Given the description of an element on the screen output the (x, y) to click on. 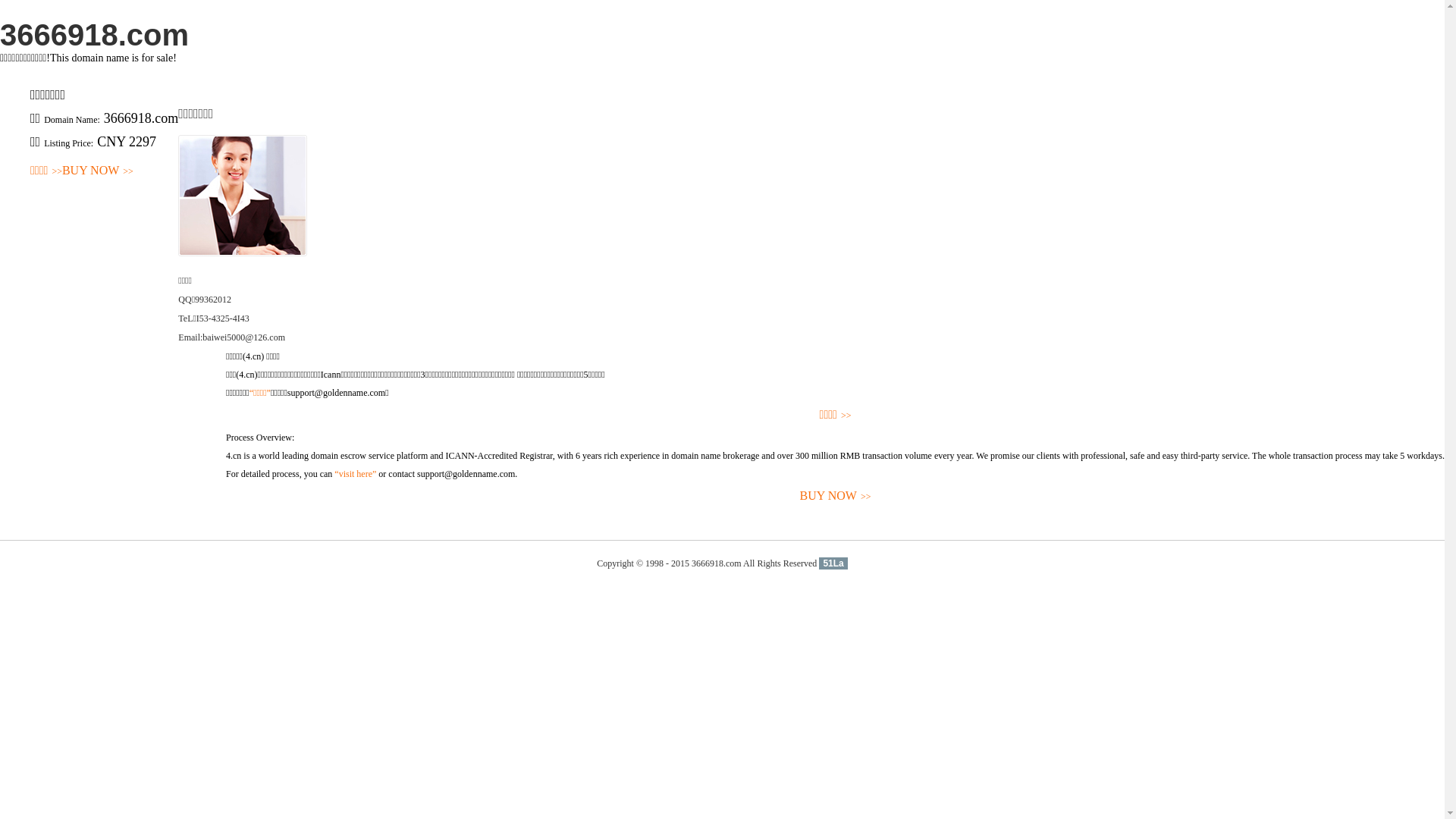
BUY NOW>> Element type: text (834, 496)
BUY NOW>> Element type: text (97, 170)
51La Element type: text (833, 563)
